Given the description of an element on the screen output the (x, y) to click on. 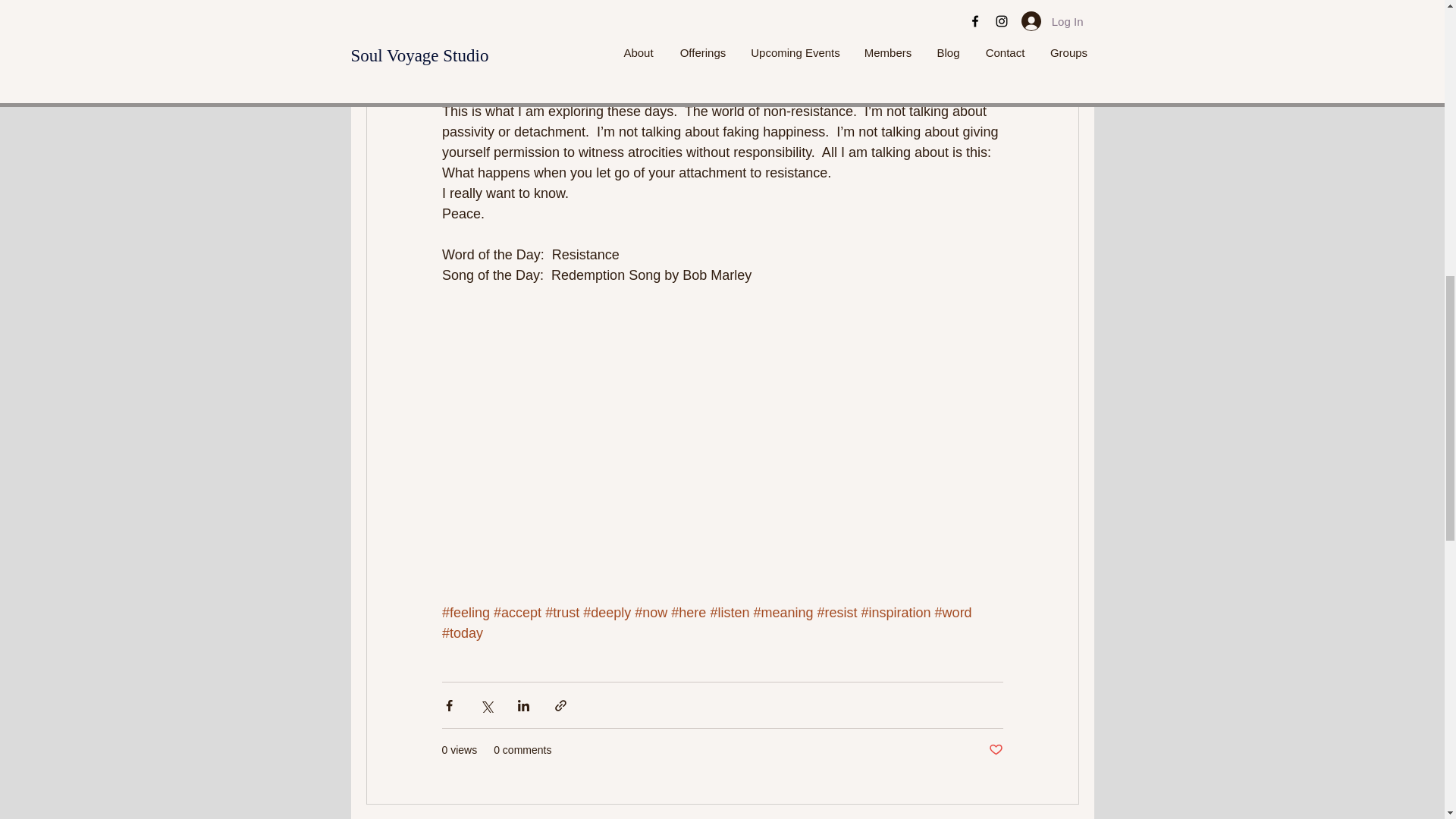
Post not marked as liked (995, 750)
